Given the description of an element on the screen output the (x, y) to click on. 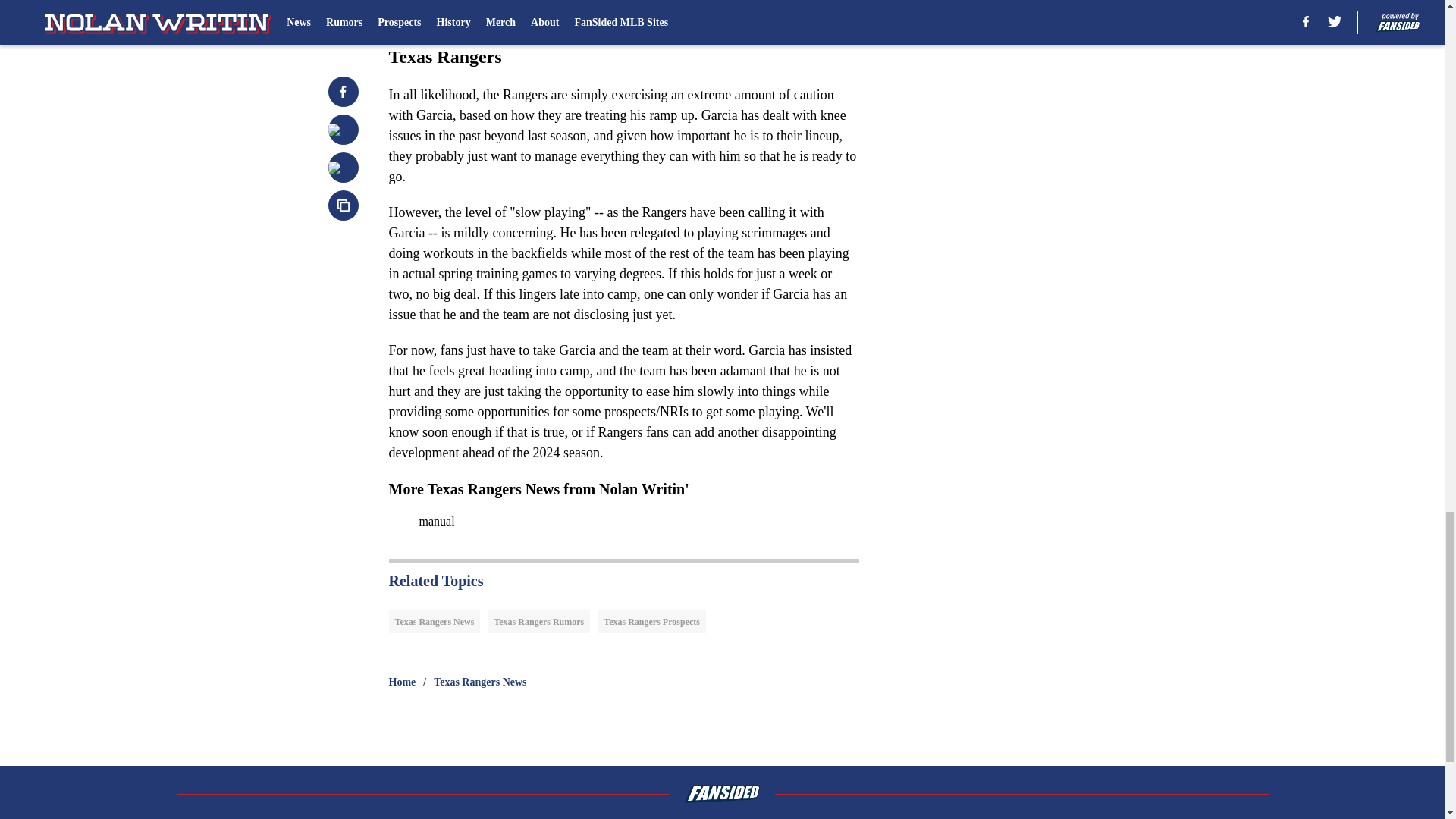
Home (401, 682)
Openings (676, 818)
Texas Rangers News (479, 682)
Texas Rangers Prospects (651, 621)
Masthead (521, 818)
Texas Rangers Rumors (538, 621)
Texas Rangers News (434, 621)
Contact (861, 818)
